Given the description of an element on the screen output the (x, y) to click on. 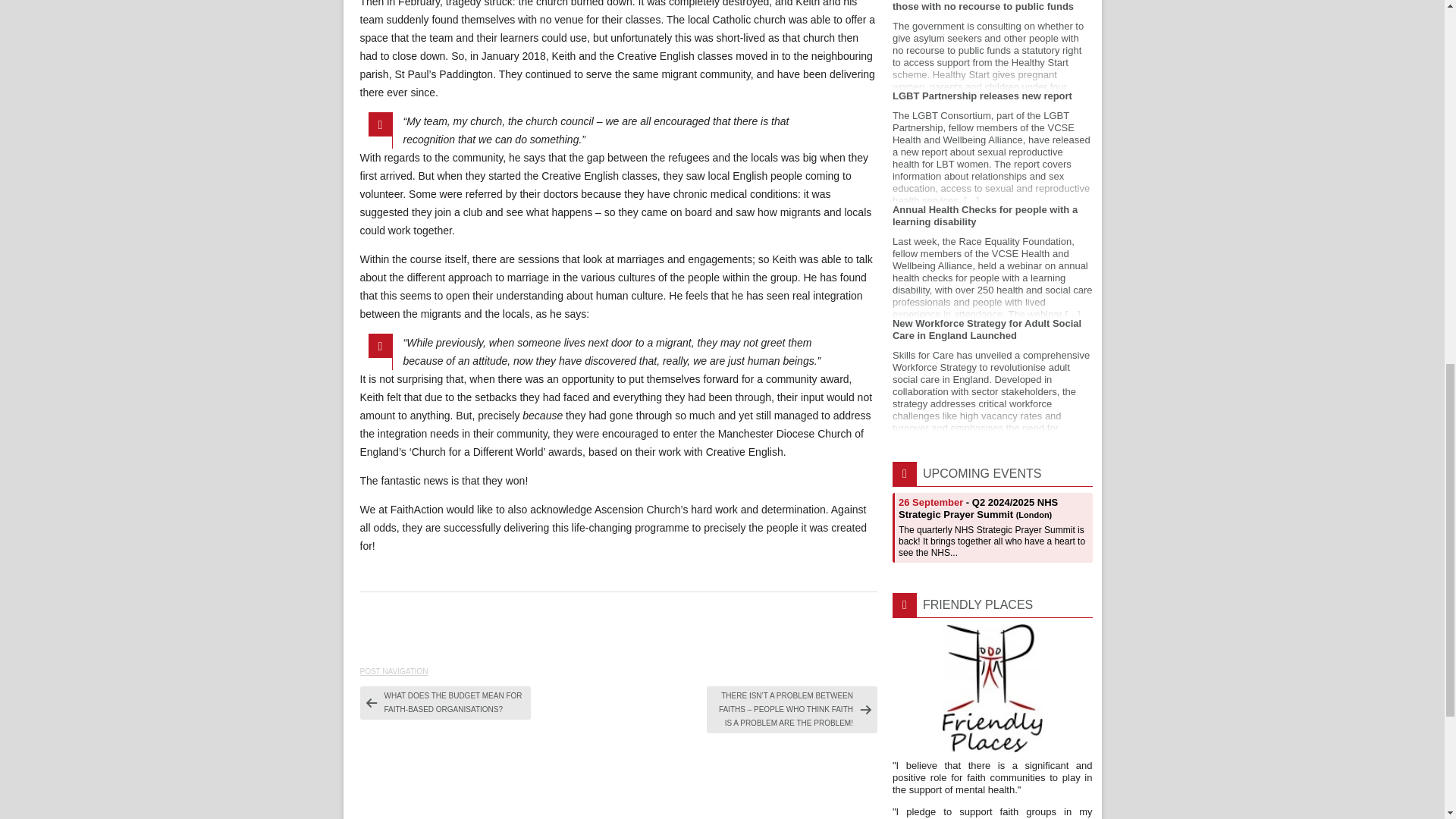
LGBT Partnership releases new report (992, 146)
Annual Health Checks for people with a learning disability (992, 260)
